Given the description of an element on the screen output the (x, y) to click on. 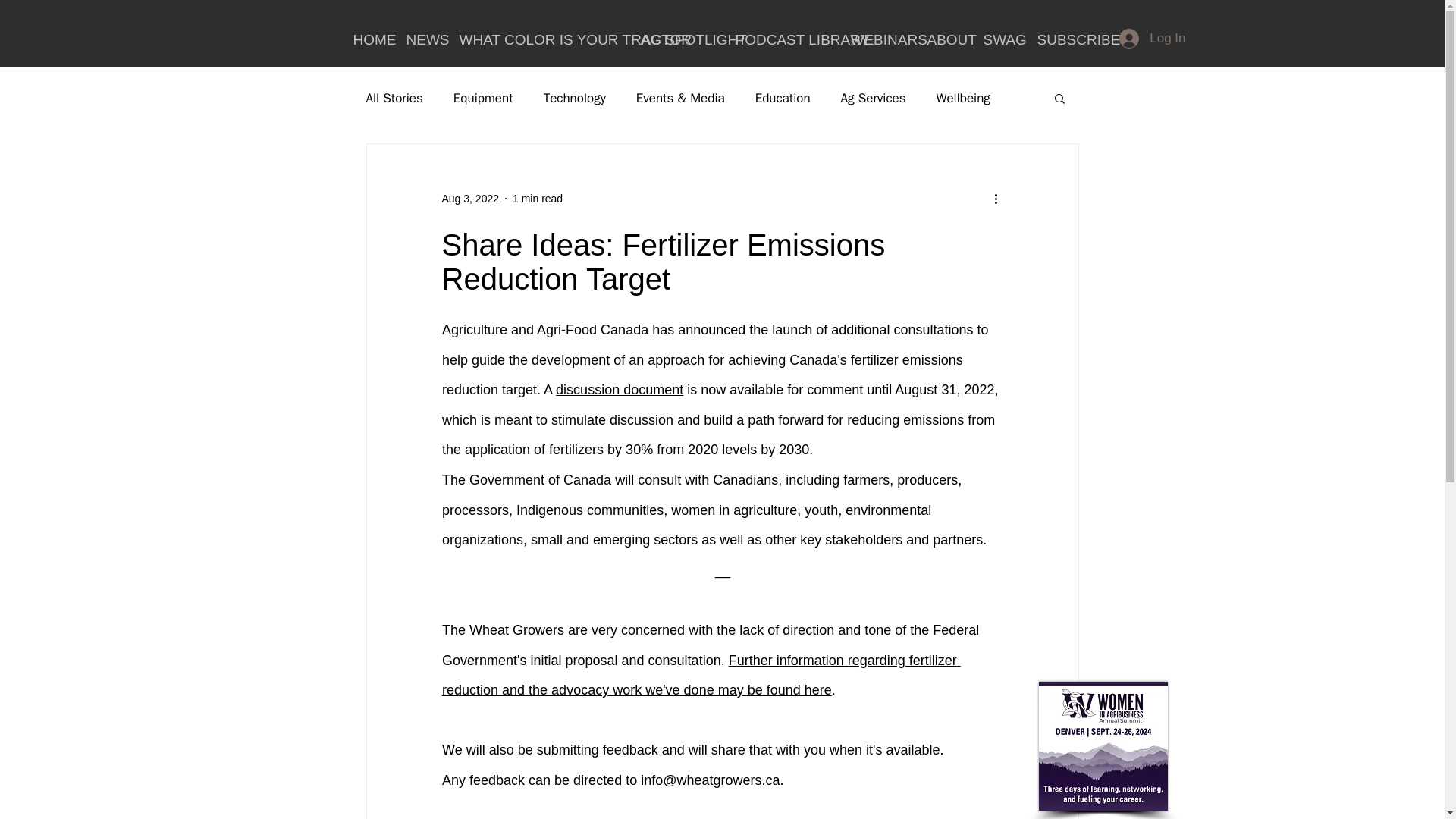
SWAG (999, 38)
PODCAST LIBRARY (780, 38)
ABOUT (943, 38)
All Stories (393, 98)
Ag Services (873, 98)
Aug 3, 2022 (470, 198)
WEBINARS (876, 38)
Log In (1151, 38)
Education (782, 98)
HOME (367, 38)
